Given the description of an element on the screen output the (x, y) to click on. 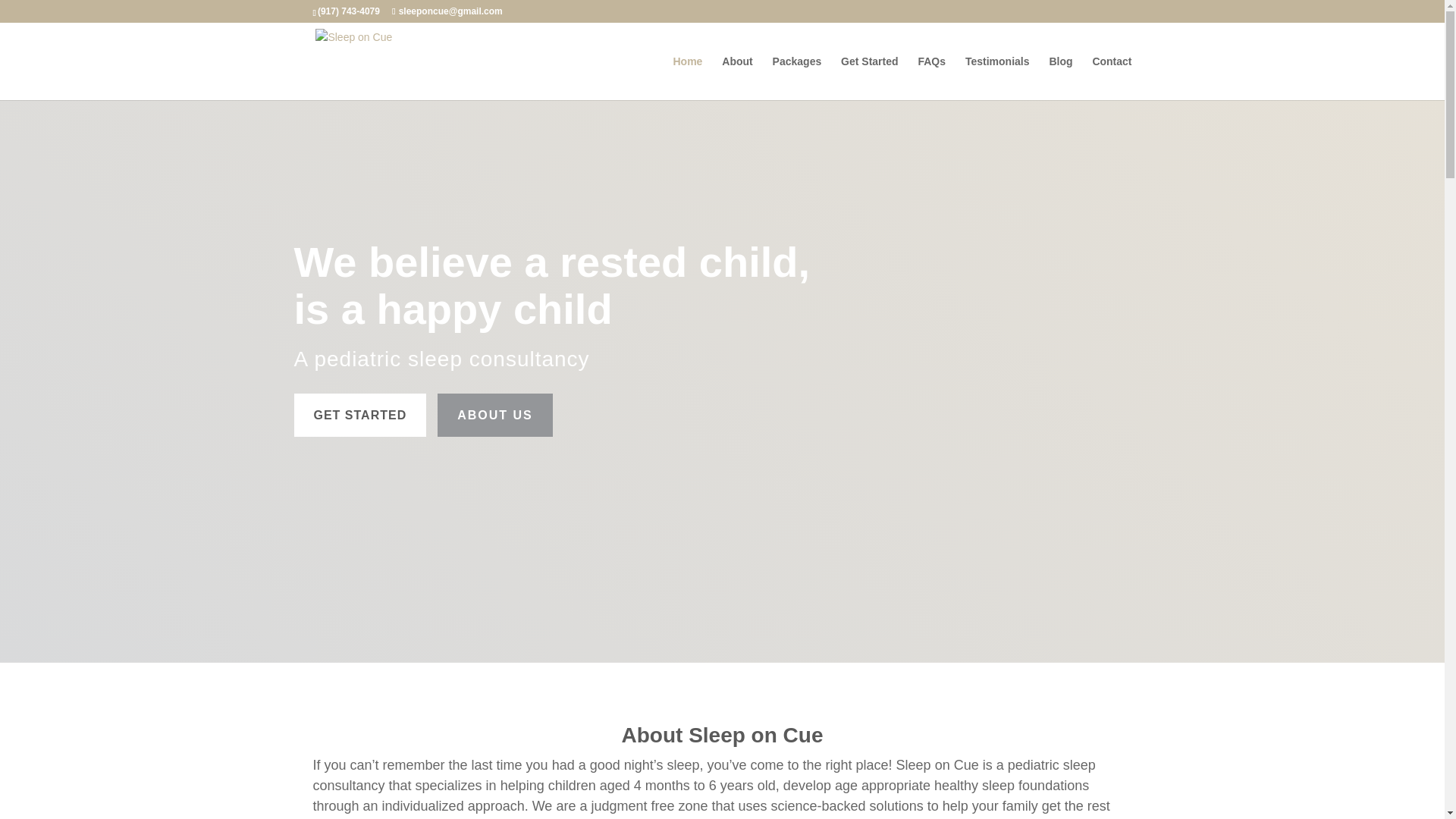
Contact (1111, 77)
Get Started (869, 77)
ABOUT US (495, 414)
GET STARTED (360, 414)
Testimonials (997, 77)
Packages (797, 77)
